Given the description of an element on the screen output the (x, y) to click on. 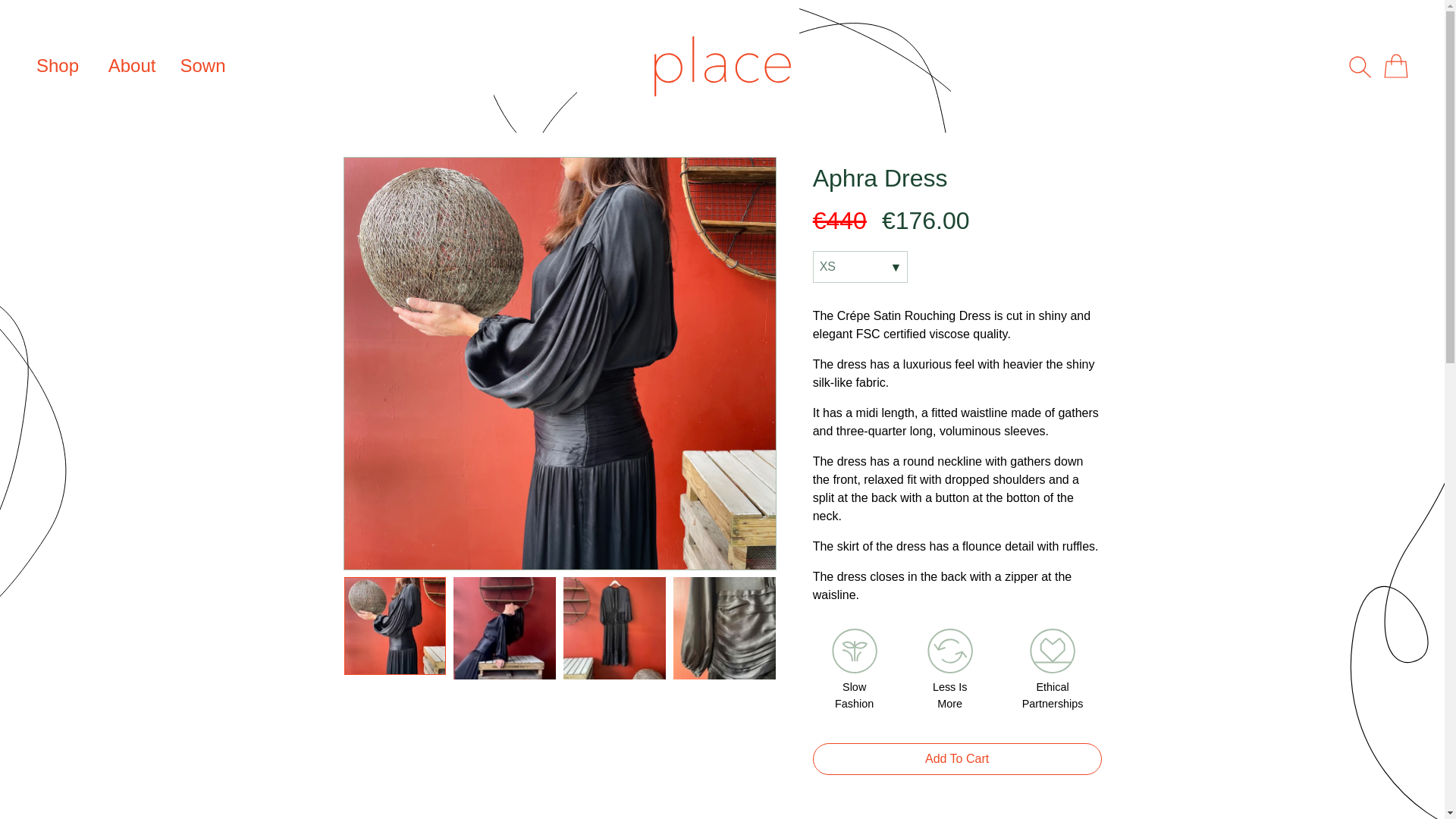
About (131, 65)
Shop (57, 65)
Sown (202, 65)
Add To Cart (957, 758)
